Given the description of an element on the screen output the (x, y) to click on. 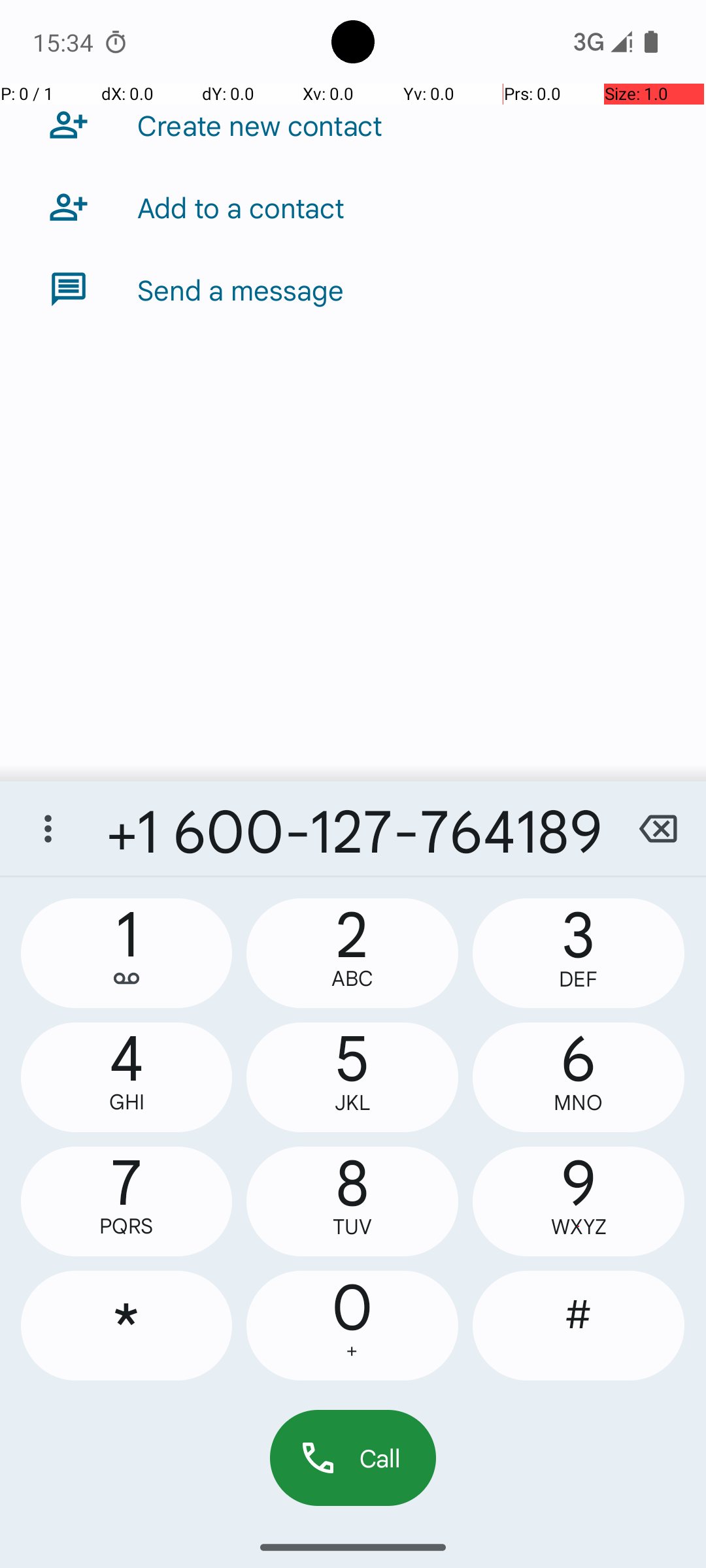
+1 600-127-764189 Element type: android.widget.EditText (352, 828)
